Given the description of an element on the screen output the (x, y) to click on. 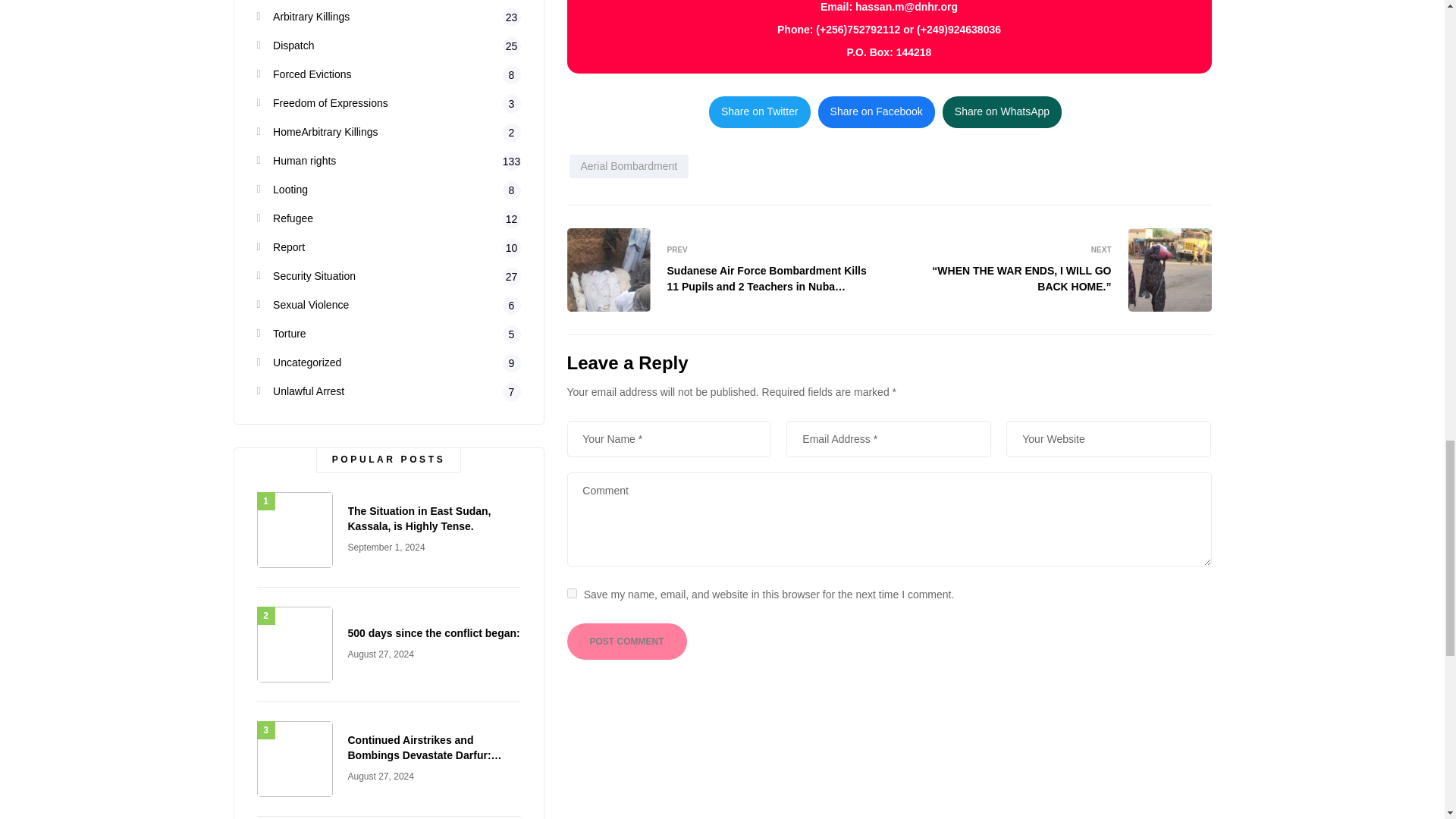
yes (571, 593)
Post Comment (627, 641)
Share on WhatsApp (1001, 111)
Share on Facebook (876, 111)
Aerial Bombardment (628, 166)
Share on Twitter (759, 111)
